Given the description of an element on the screen output the (x, y) to click on. 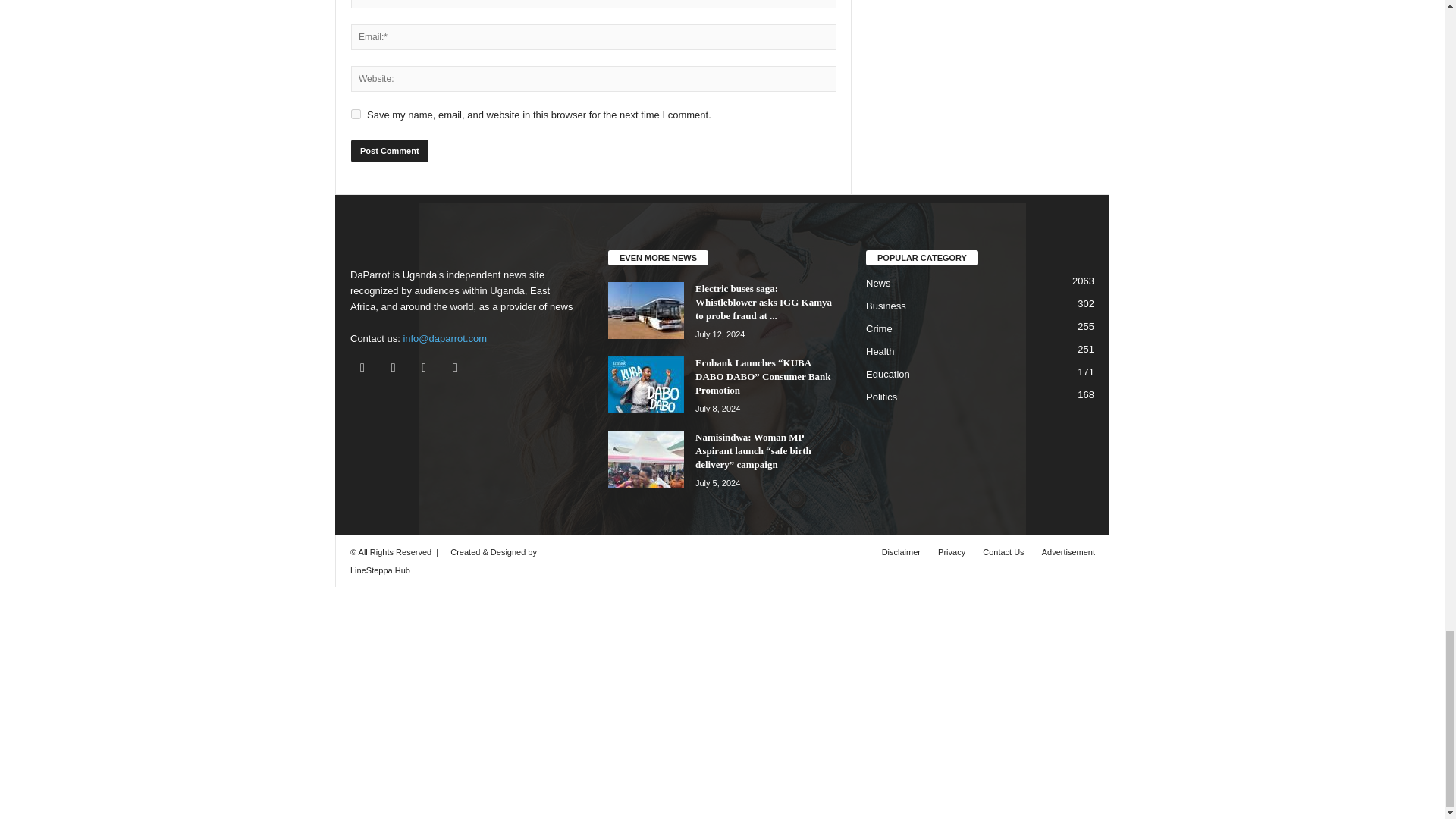
yes (355, 113)
Post Comment (389, 150)
